Given the description of an element on the screen output the (x, y) to click on. 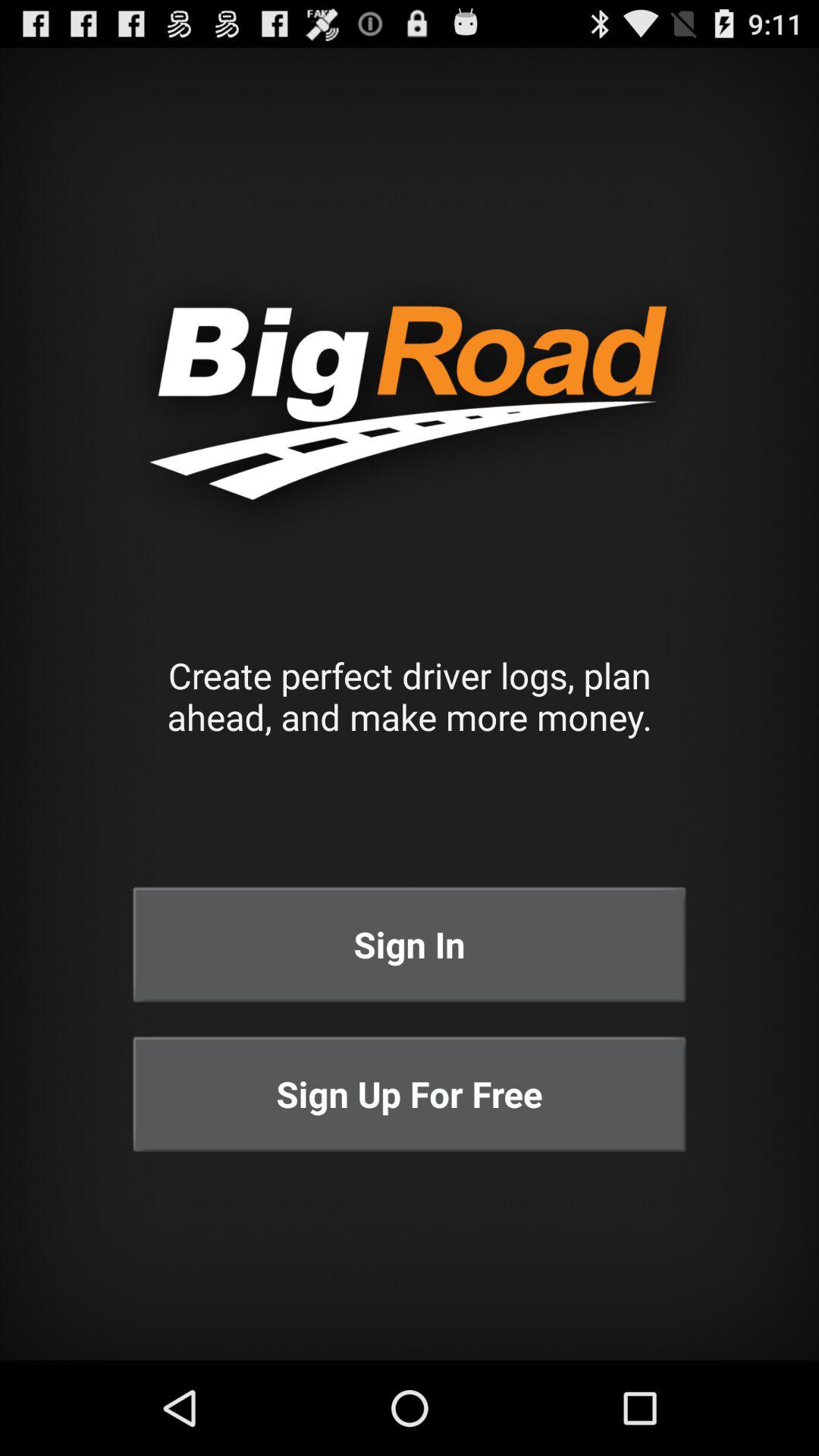
click sign up for icon (409, 1093)
